Given the description of an element on the screen output the (x, y) to click on. 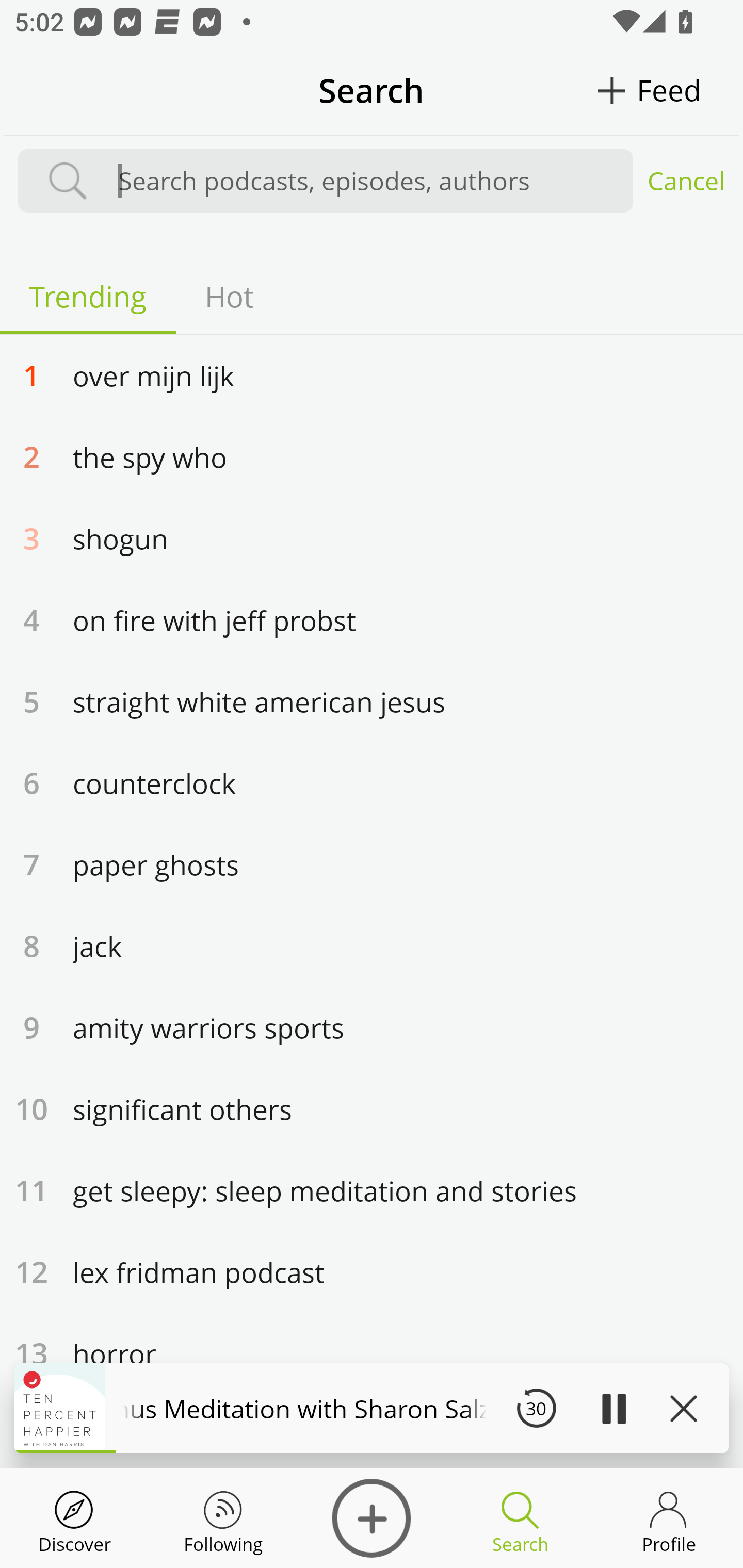
Back (46, 90)
Feed (668, 90)
Cancel (686, 180)
Search podcasts, episodes, authors (366, 180)
Trending (88, 295)
Hot (229, 295)
1 over mijn lijk (371, 374)
2 the spy who (371, 456)
3 shogun (371, 537)
4 on fire with jeff probst (371, 619)
5 straight white american jesus (371, 700)
6 counterclock (371, 782)
7 paper ghosts (371, 863)
8 jack (371, 945)
9 amity warriors sports (371, 1026)
10 significant others (371, 1108)
11 get sleepy: sleep meditation and stories (371, 1189)
12 lex fridman podcast (371, 1271)
13 horror (371, 1352)
Play (613, 1407)
30 Seek Backward (536, 1407)
Discover (74, 1518)
Discover Following (222, 1518)
Discover (371, 1518)
Discover Profile (668, 1518)
